Given the description of an element on the screen output the (x, y) to click on. 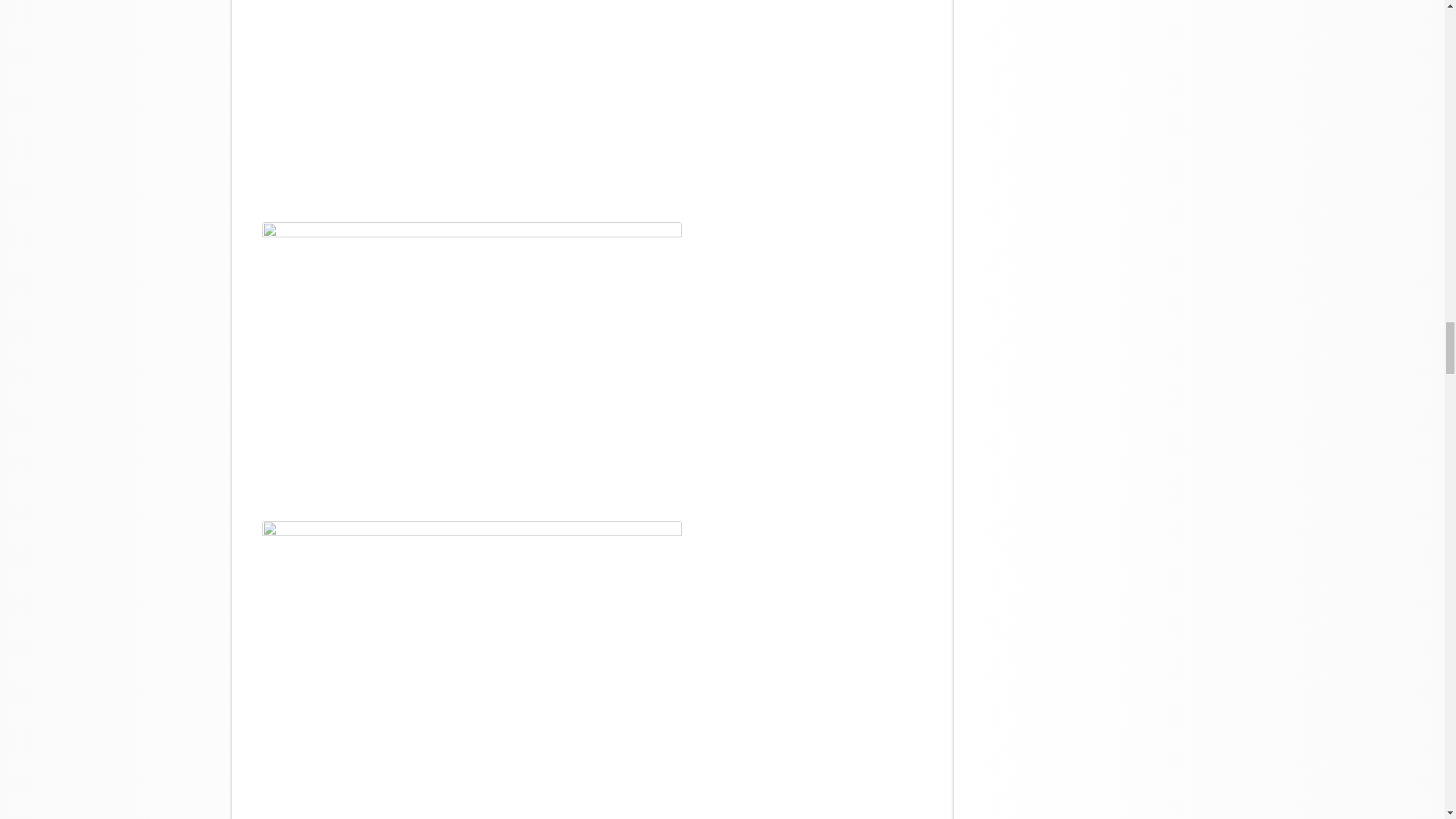
i (471, 361)
j (471, 660)
h (471, 101)
